Given the description of an element on the screen output the (x, y) to click on. 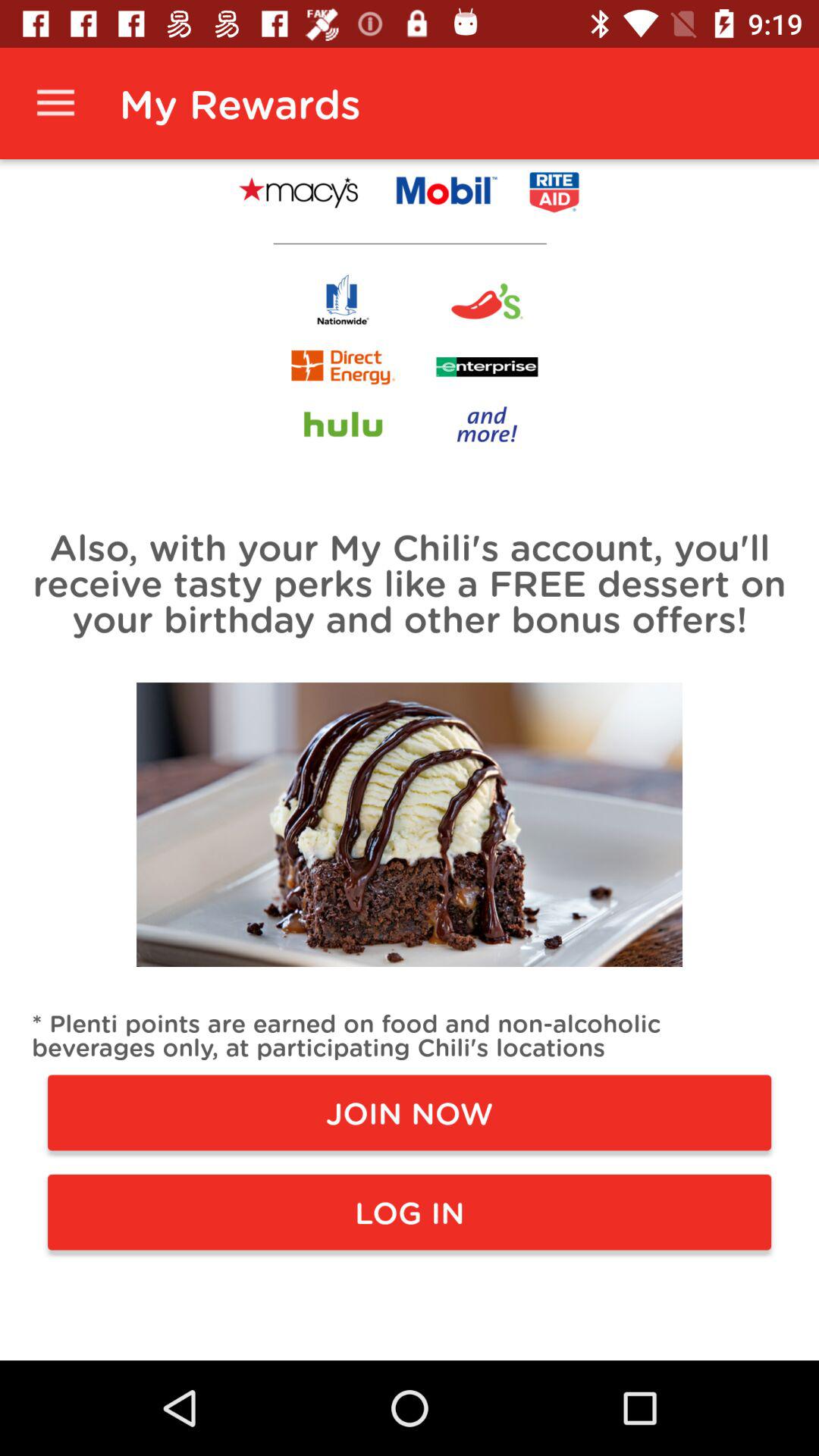
click the item next to my rewards item (55, 103)
